Given the description of an element on the screen output the (x, y) to click on. 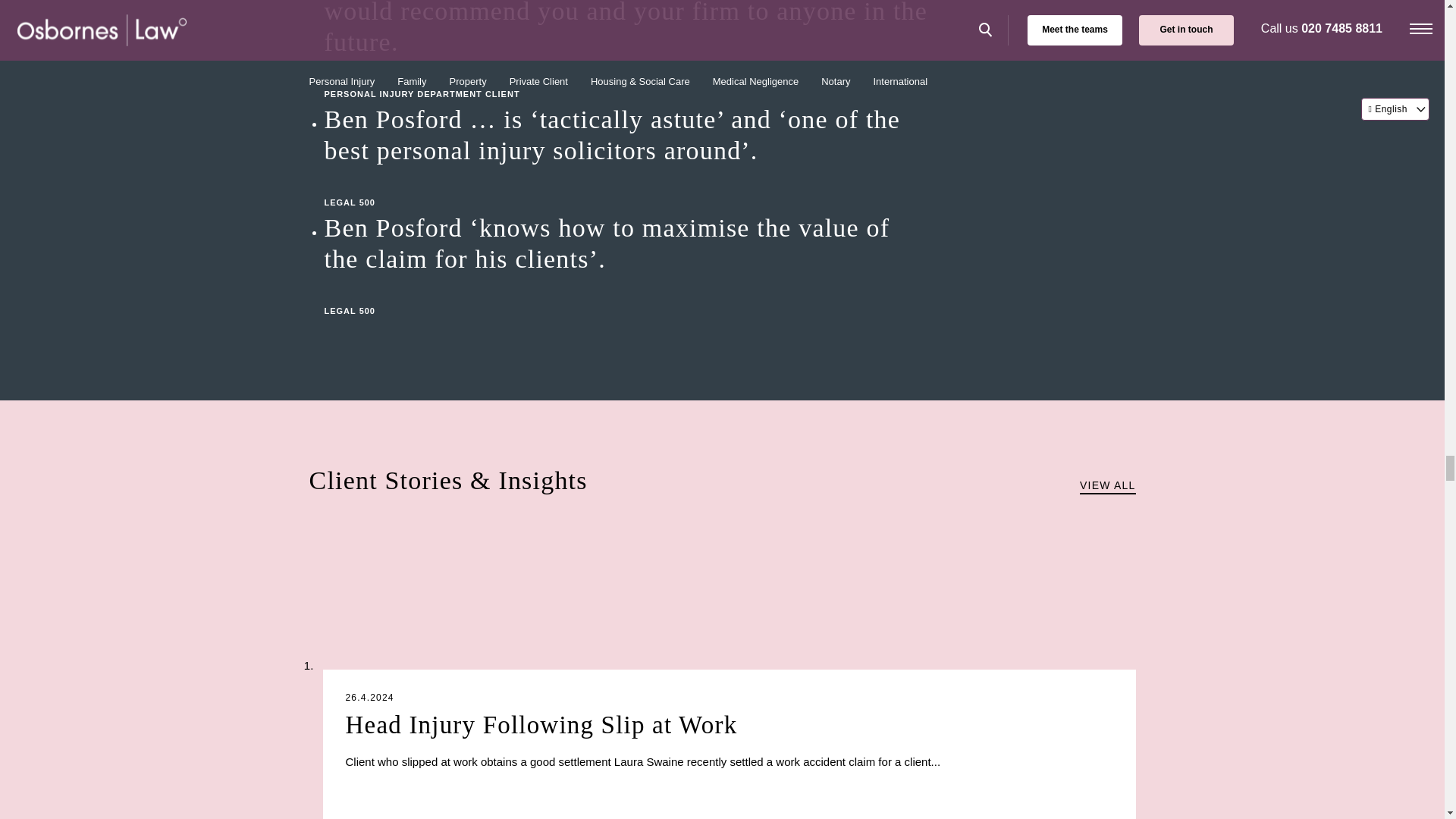
PERSONAL INJURY DEPARTMENT CLIENT (627, 78)
LEGAL 500 (627, 295)
LEGAL 500 (627, 187)
